Given the description of an element on the screen output the (x, y) to click on. 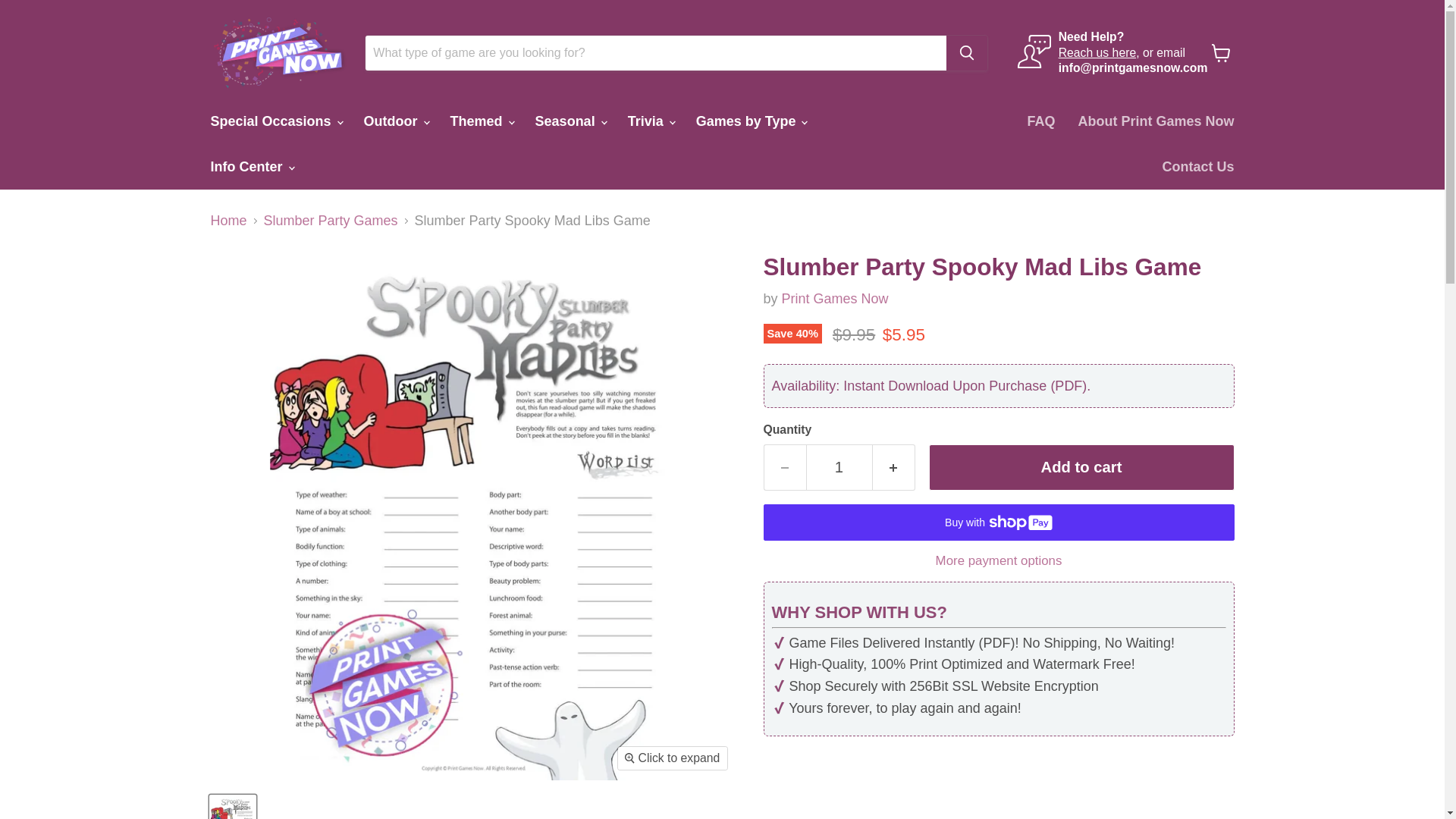
Print Games Now (834, 298)
Need Help? (1091, 37)
View cart (1221, 52)
1 (838, 467)
Contact (1096, 51)
Reach us here (1096, 51)
